Given the description of an element on the screen output the (x, y) to click on. 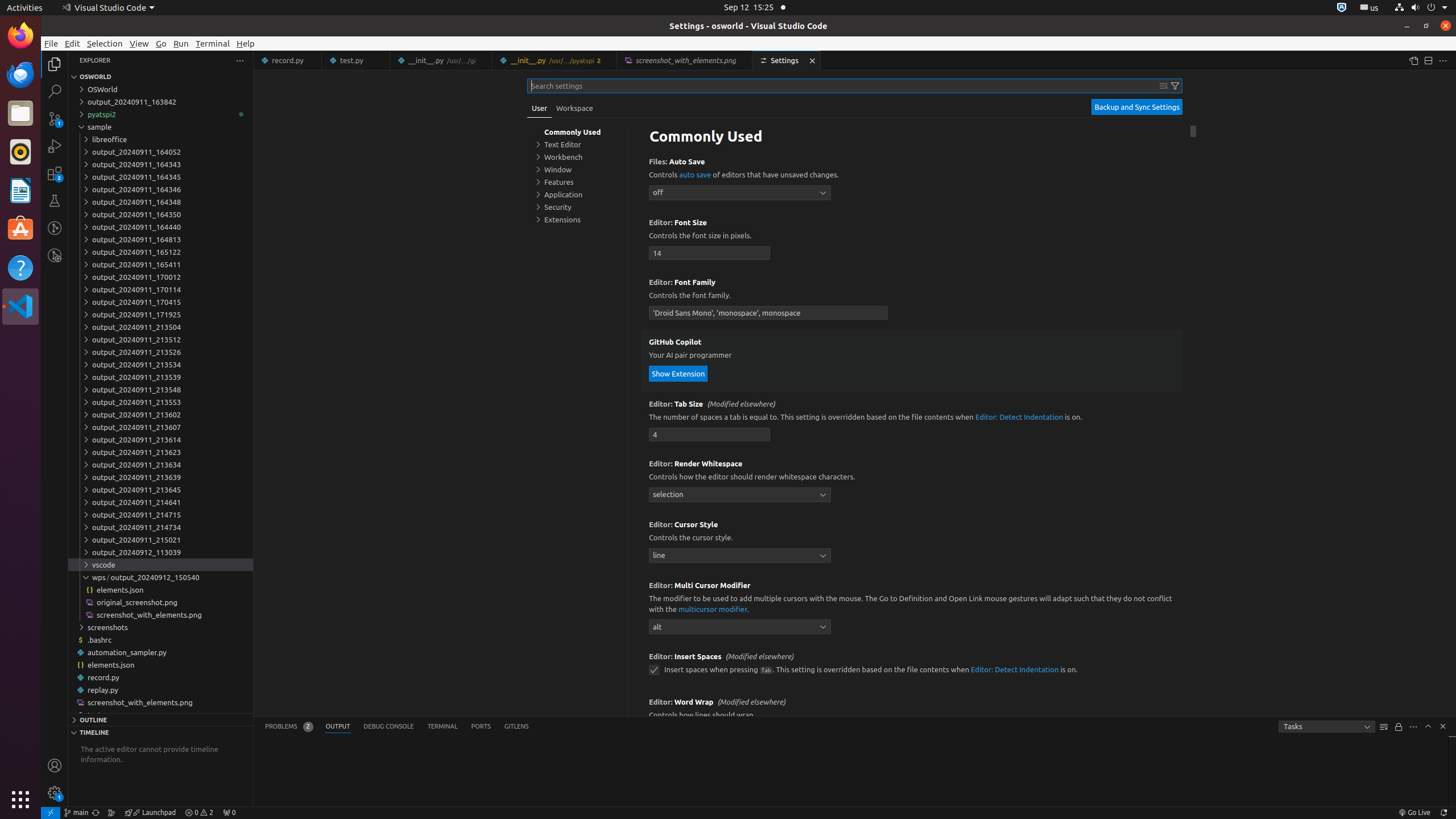
Explorer (Ctrl+Shift+E) Element type: page-tab (54, 63)
Tasks Element type: menu-item (1326, 726)
editor.fontSize Element type: spin-button (709, 252)
output_20240911_213548 Element type: tree-item (160, 389)
Turn Auto Scrolling Off Element type: check-box (1398, 726)
